Given the description of an element on the screen output the (x, y) to click on. 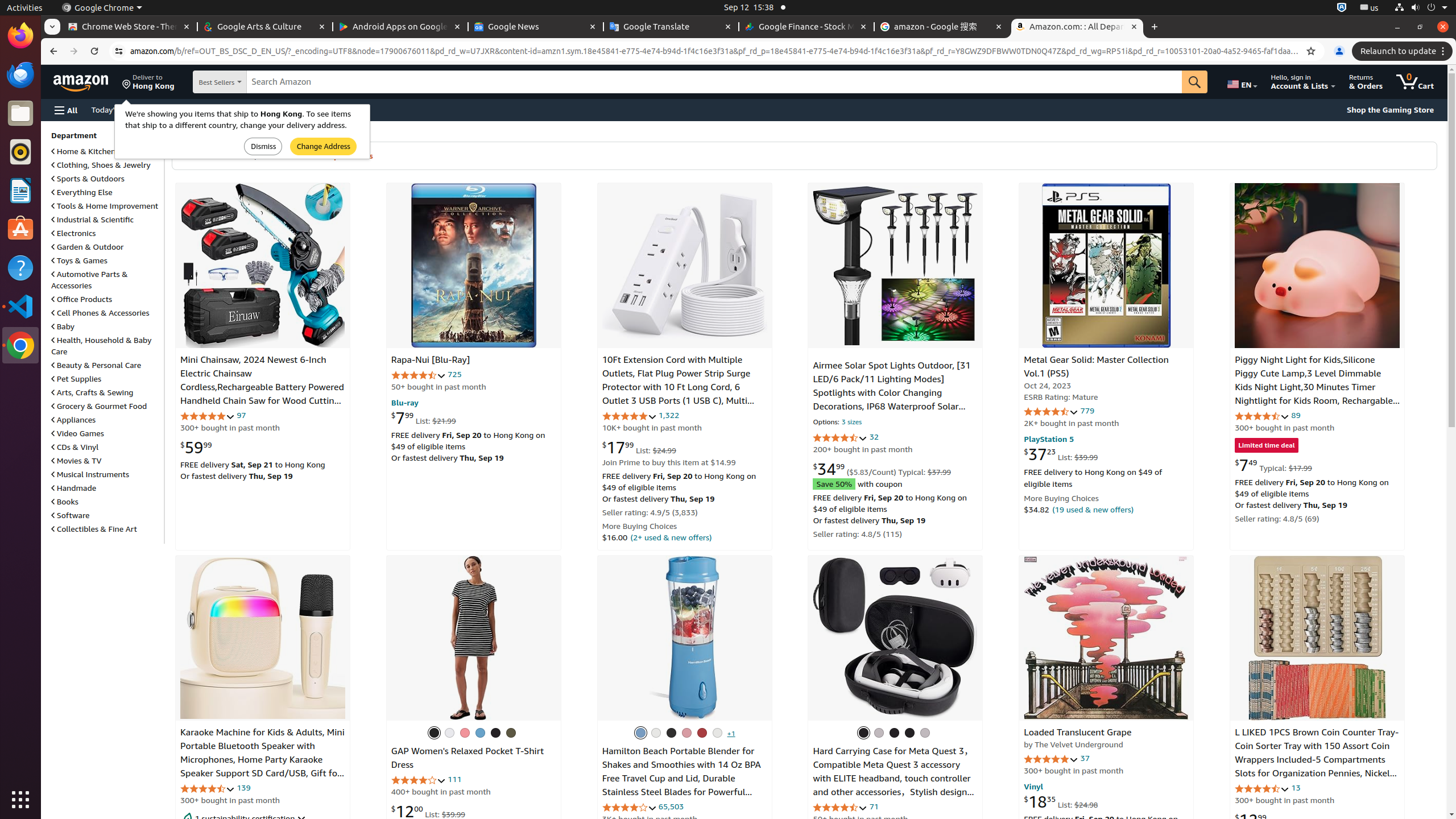
779 Element type: link (1087, 410)
13 Element type: link (1295, 787)
You Element type: push-button (1339, 50)
Health, Household & Baby Care Element type: link (101, 345)
Appliances Element type: link (73, 419)
